Given the description of an element on the screen output the (x, y) to click on. 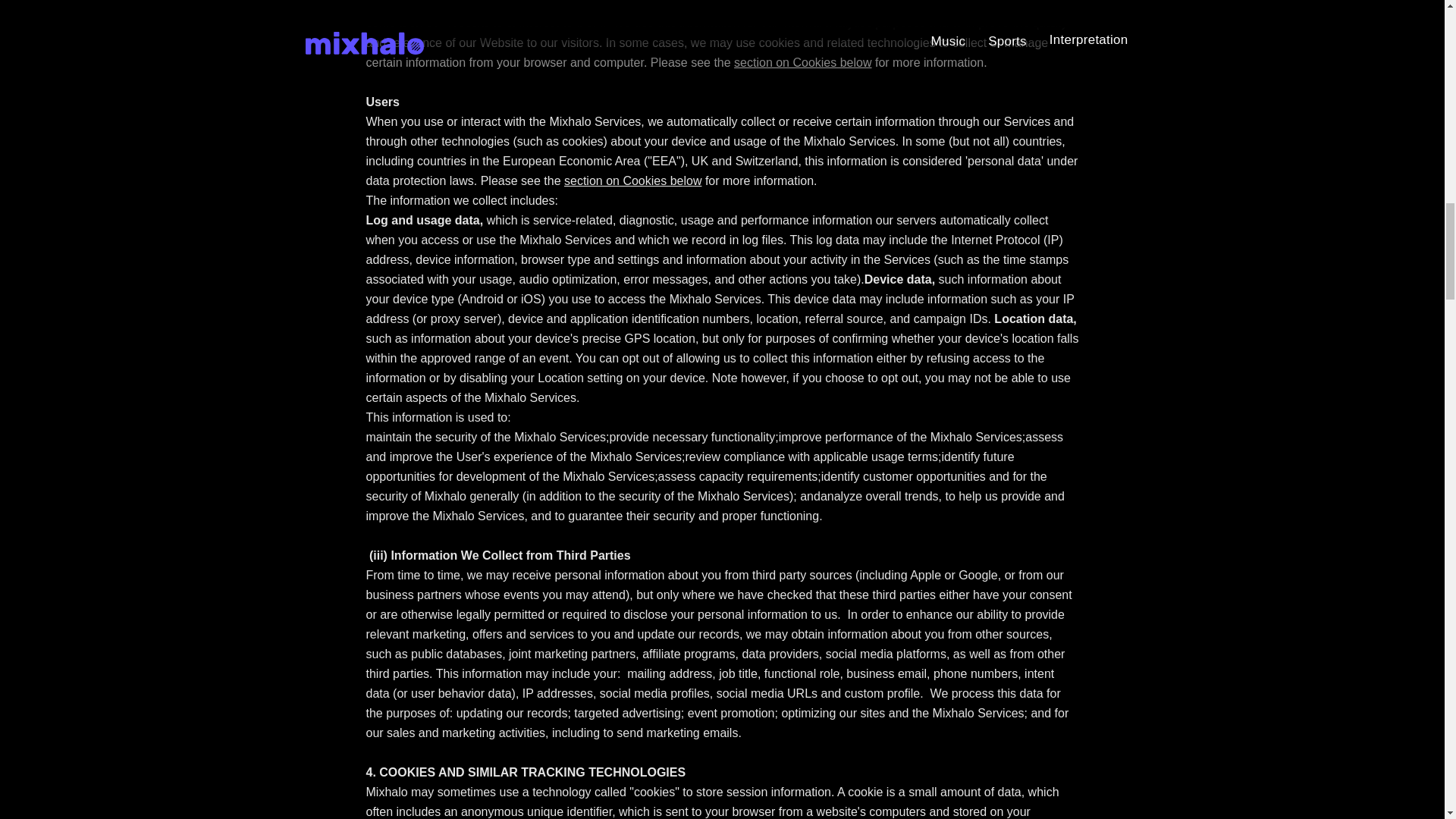
section on Cookies below (801, 62)
section on Cookies below (632, 180)
